Given the description of an element on the screen output the (x, y) to click on. 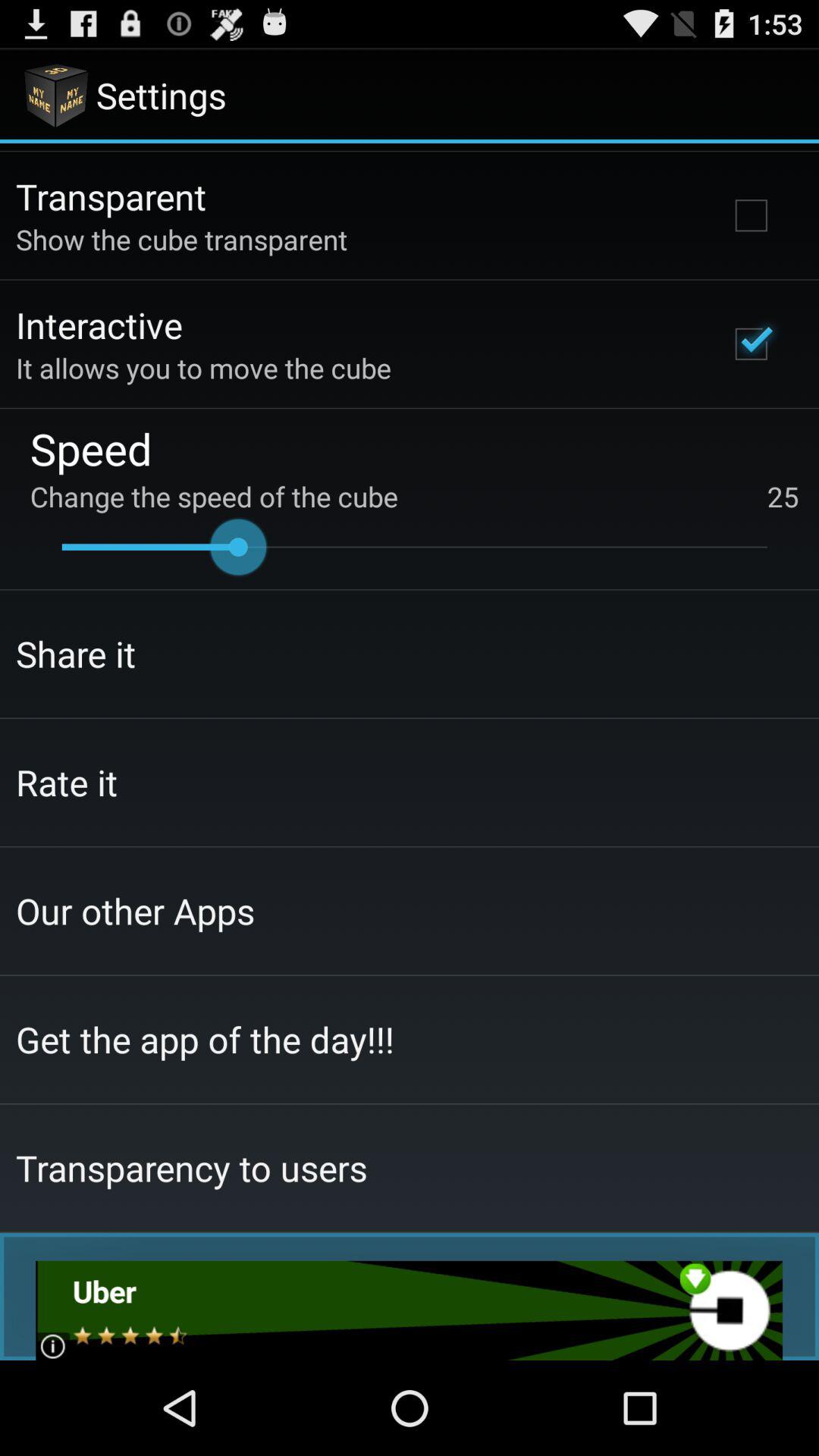
turn off icon above the get the app icon (134, 910)
